Given the description of an element on the screen output the (x, y) to click on. 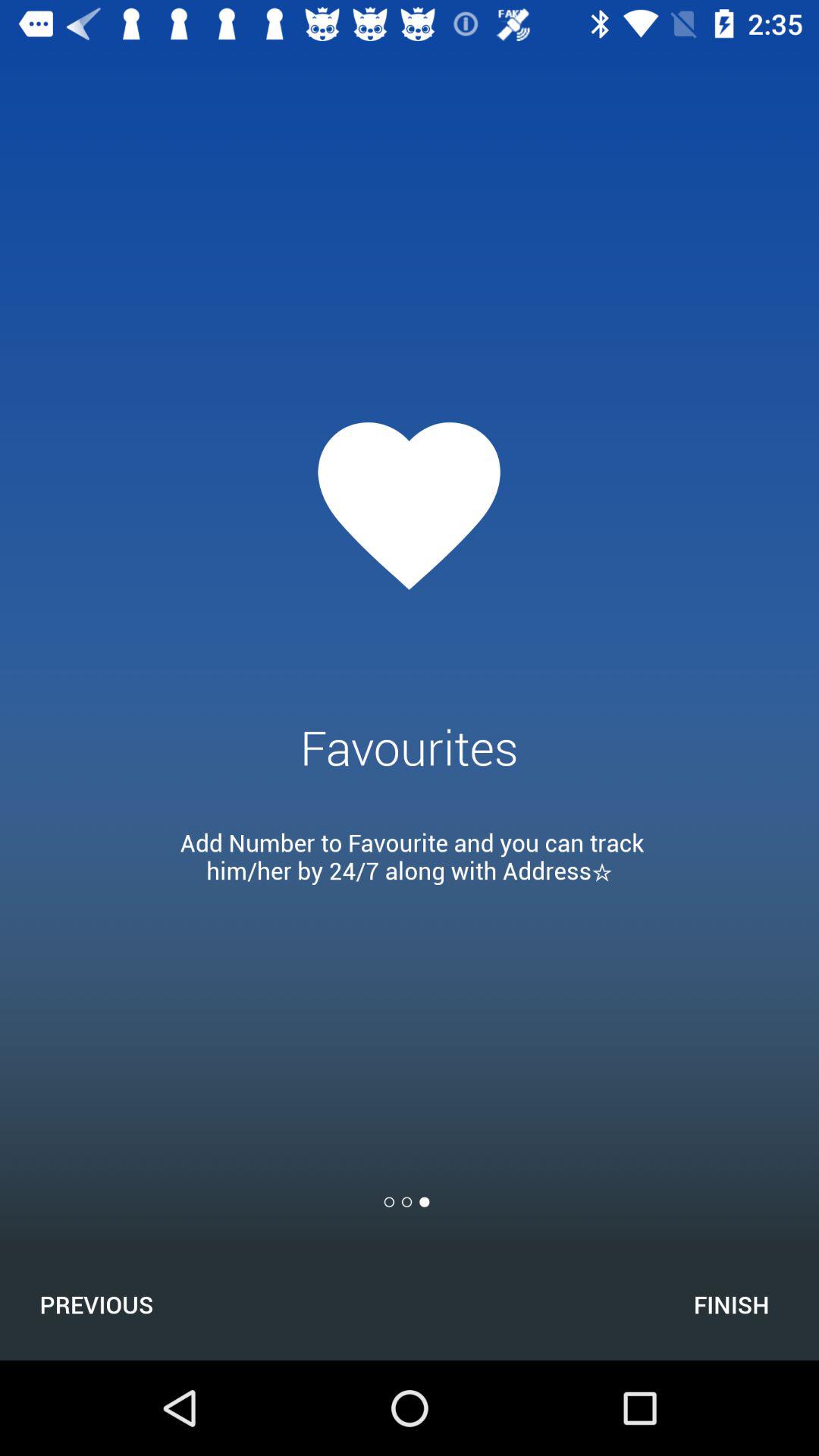
choose the icon next to the previous (731, 1304)
